Given the description of an element on the screen output the (x, y) to click on. 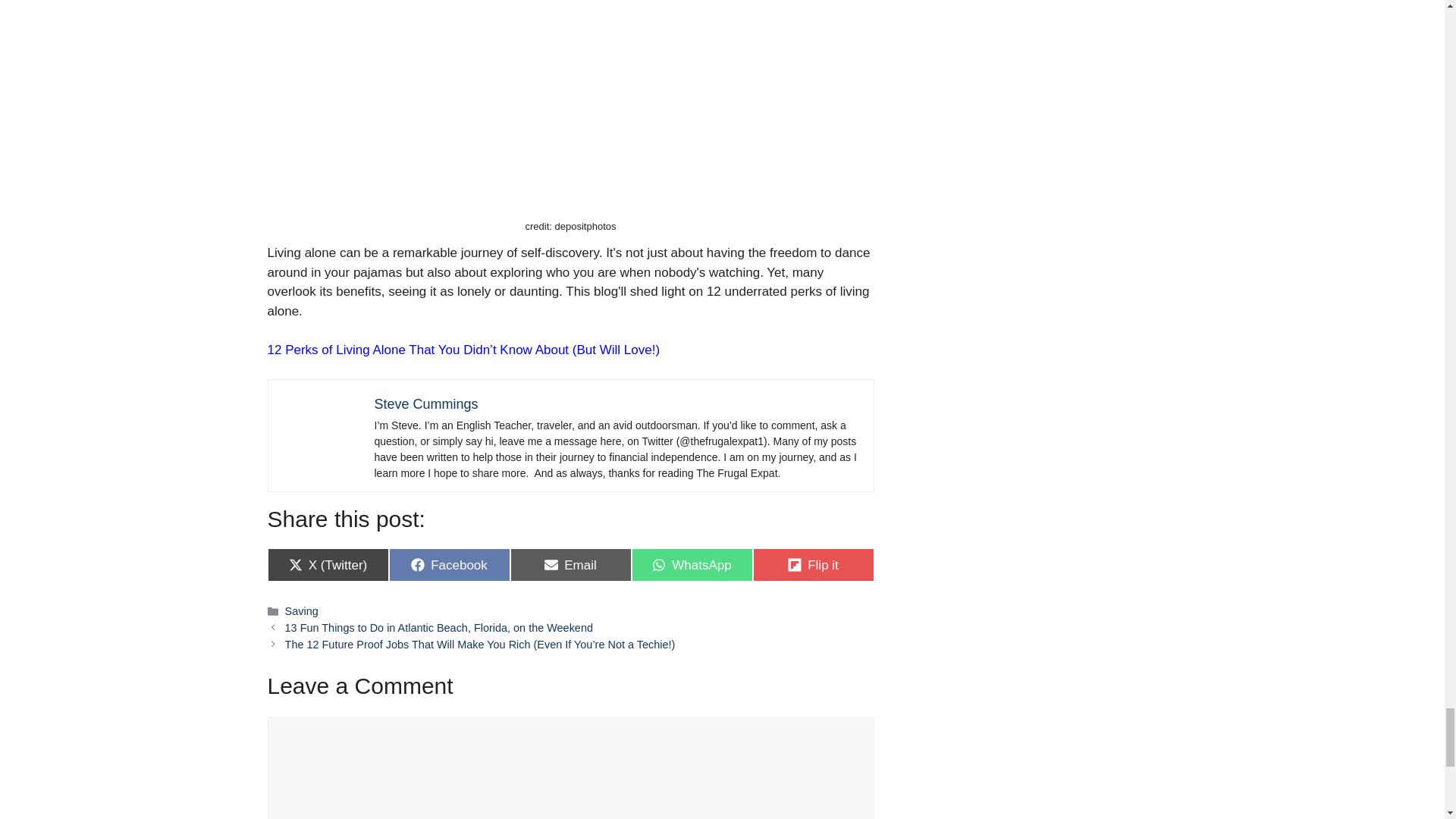
Steve Cummings (426, 403)
Saving (691, 564)
